Given the description of an element on the screen output the (x, y) to click on. 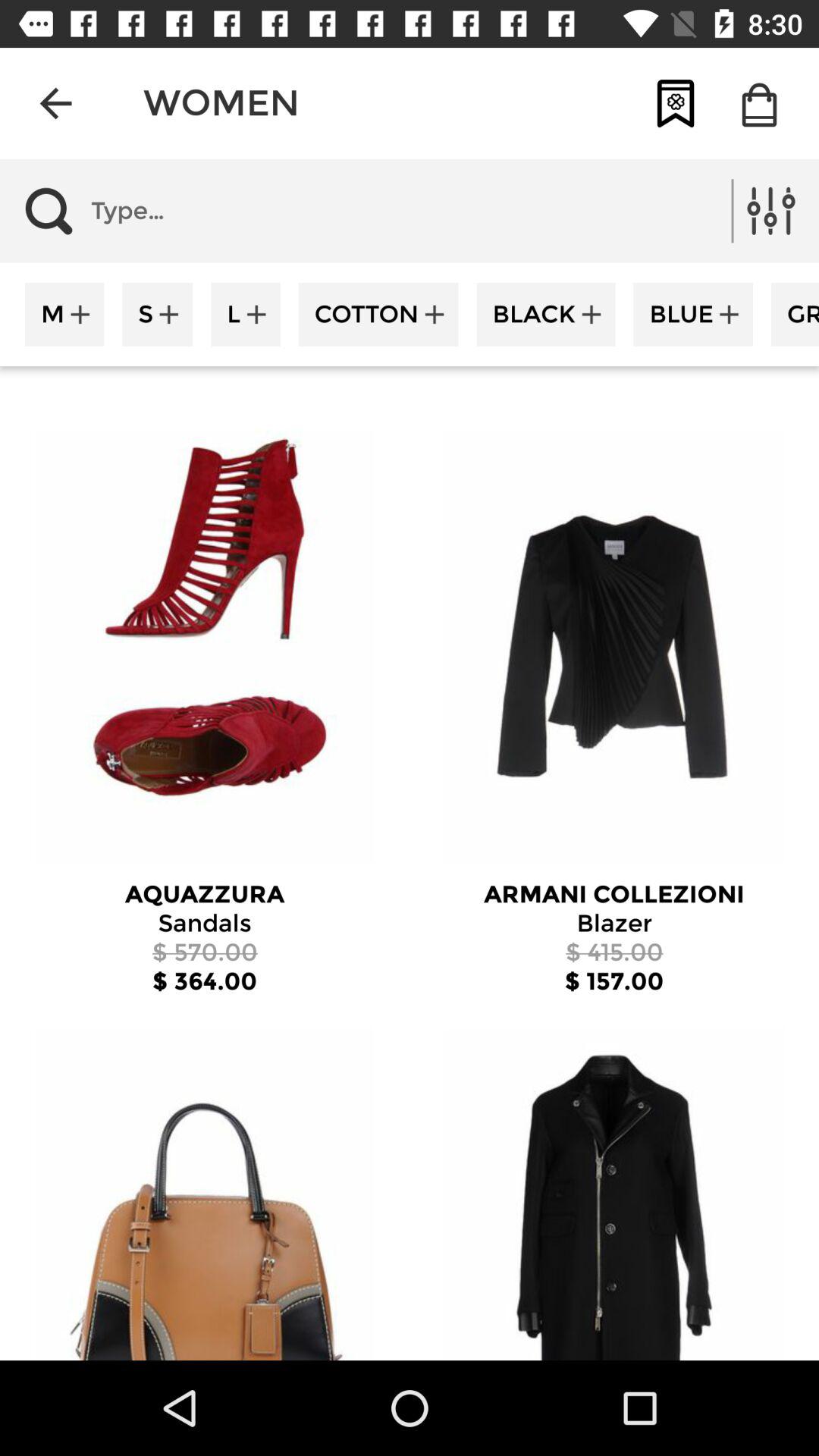
tap icon to the left of the blue (545, 314)
